Given the description of an element on the screen output the (x, y) to click on. 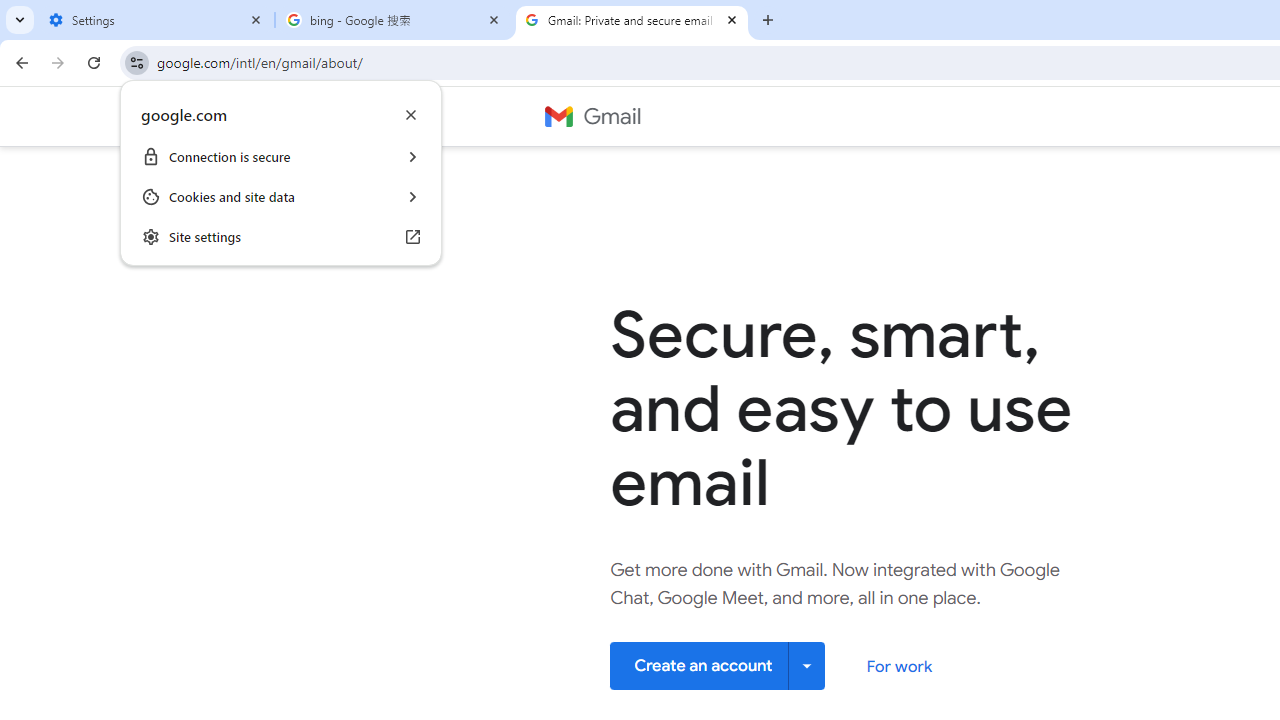
Create an account (717, 664)
Site settings  (281, 236)
Connection is secure  (281, 156)
For work (898, 665)
Settings (156, 20)
